Given the description of an element on the screen output the (x, y) to click on. 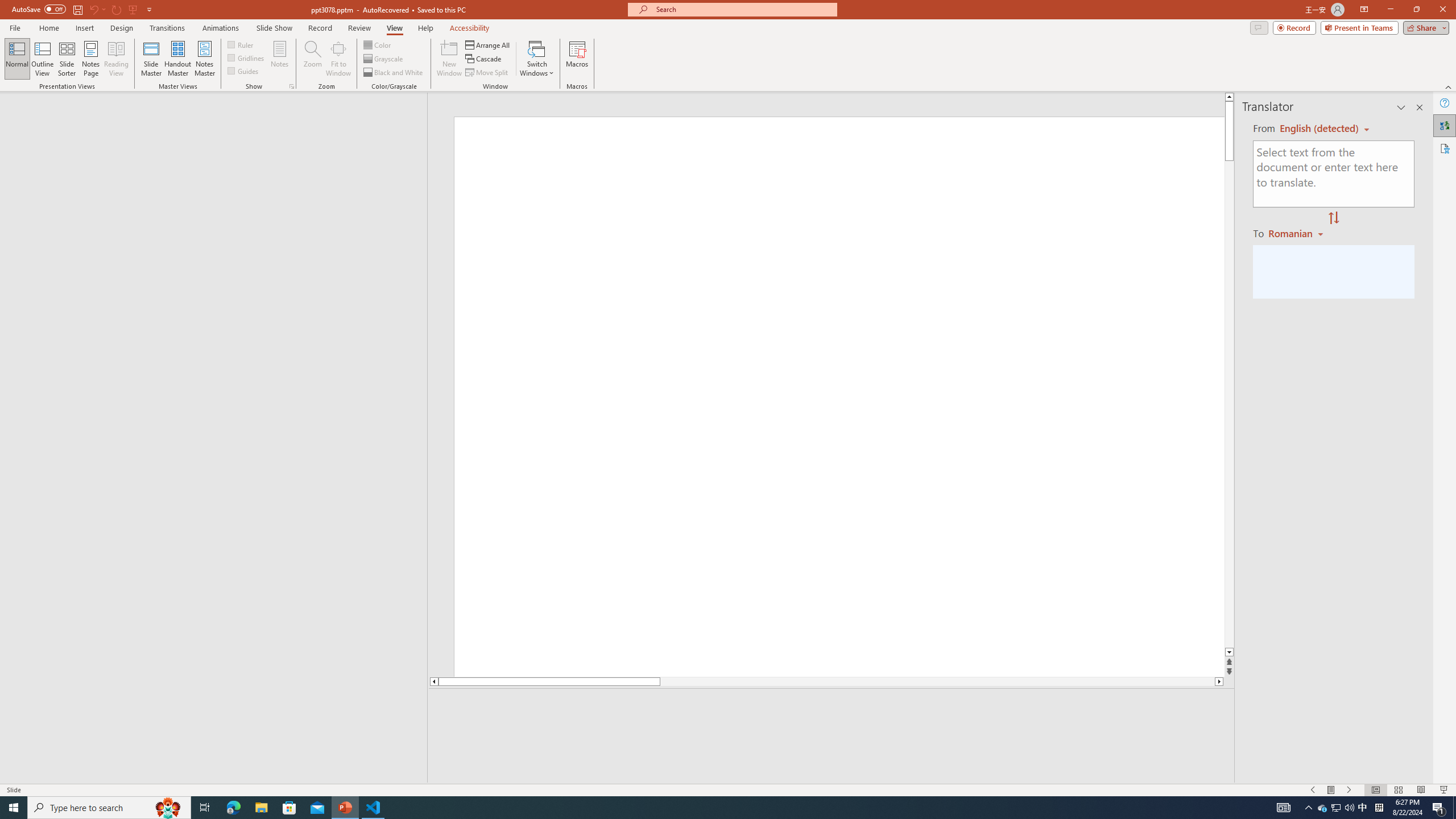
Notes Master (204, 58)
Notes (279, 58)
Gridlines (246, 56)
Notes Page (90, 58)
Grid Settings... (291, 85)
